Given the description of an element on the screen output the (x, y) to click on. 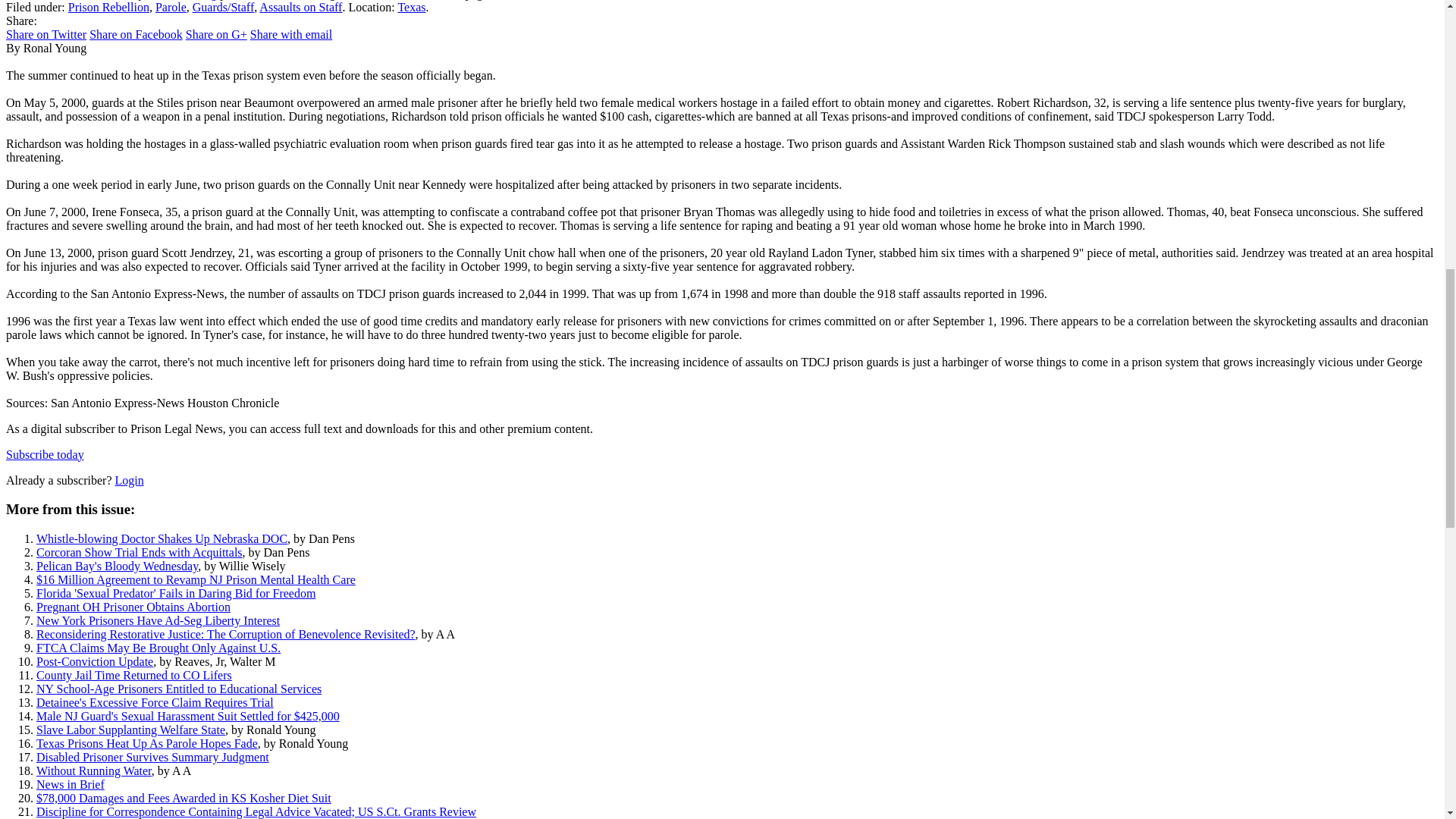
Share with email (290, 33)
Share on Facebook (135, 33)
Share on Twitter (45, 33)
